Given the description of an element on the screen output the (x, y) to click on. 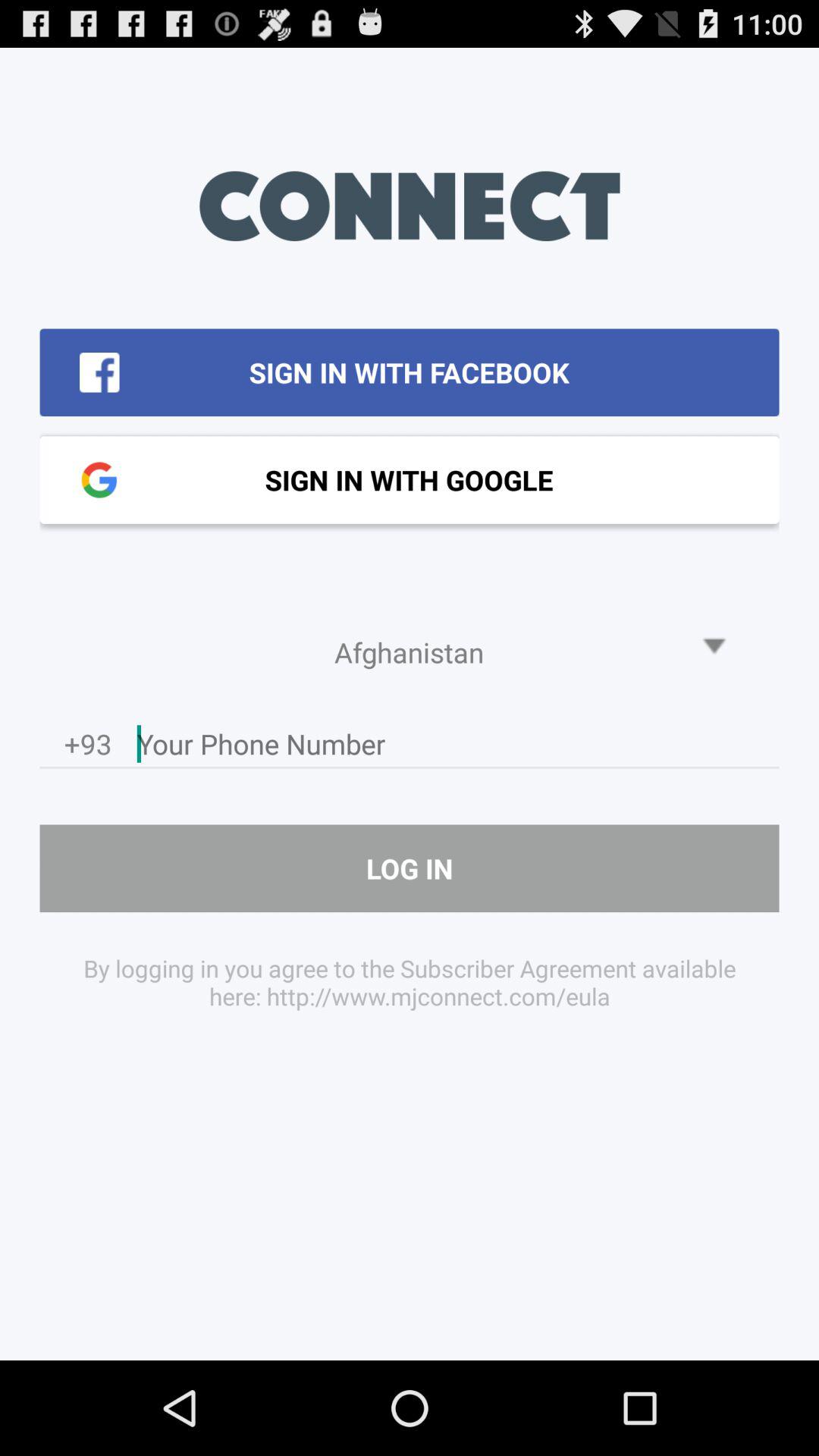
select the +93 item (88, 747)
